Given the description of an element on the screen output the (x, y) to click on. 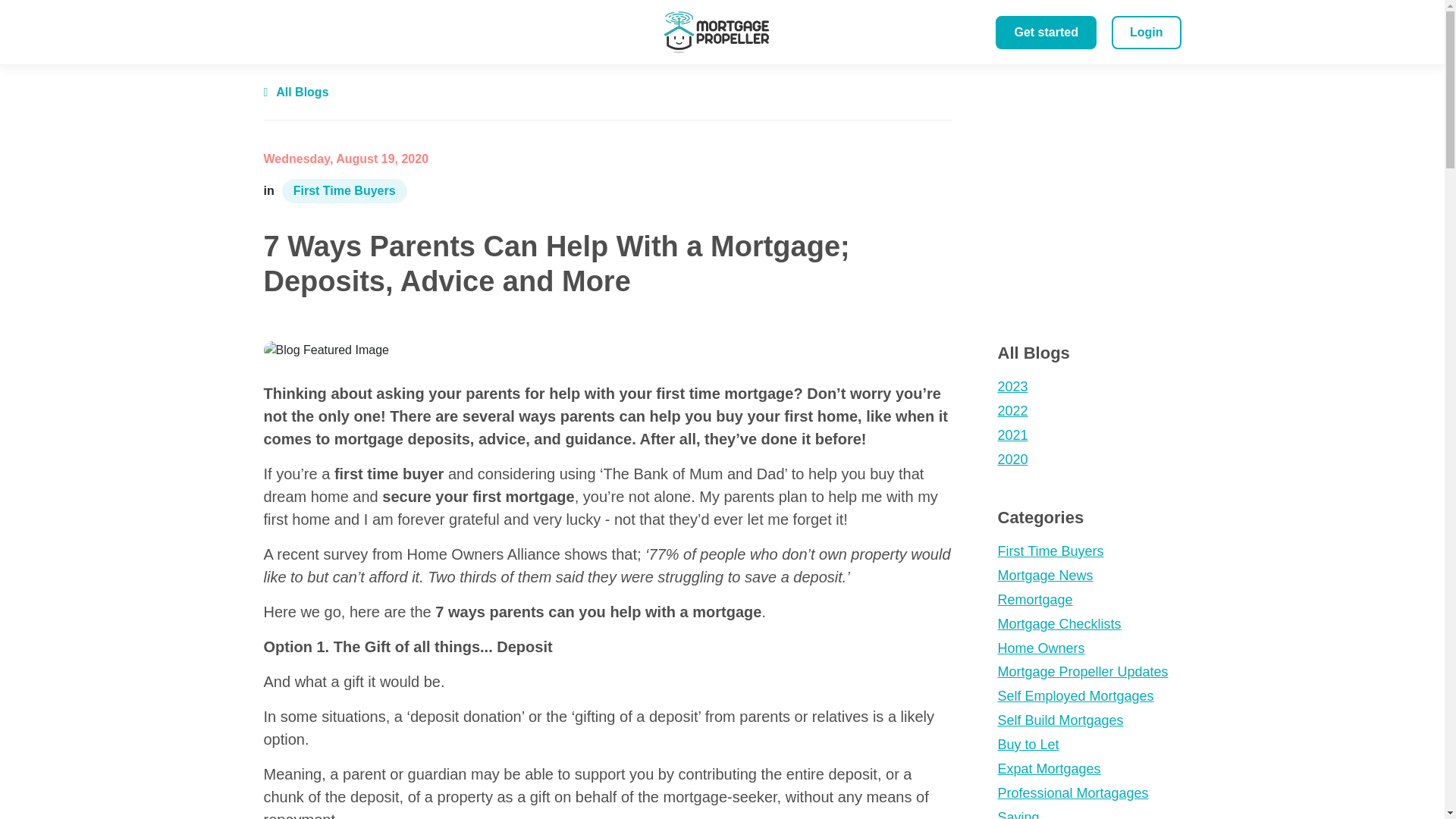
2020 (1088, 459)
Get started (1045, 31)
2021 (1088, 435)
Login (1146, 31)
Back to all blogs (296, 91)
First Time Buyers (1088, 551)
Home Owners Alliance (481, 554)
First Time Buyers (345, 190)
2023 (1088, 387)
All Blogs (296, 91)
2022 (1088, 411)
